Given the description of an element on the screen output the (x, y) to click on. 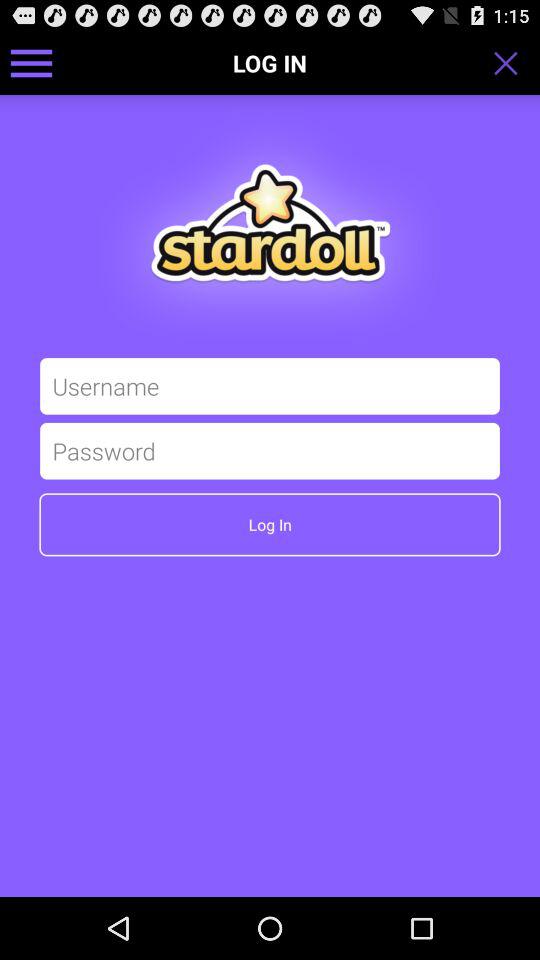
enter username (269, 386)
